Given the description of an element on the screen output the (x, y) to click on. 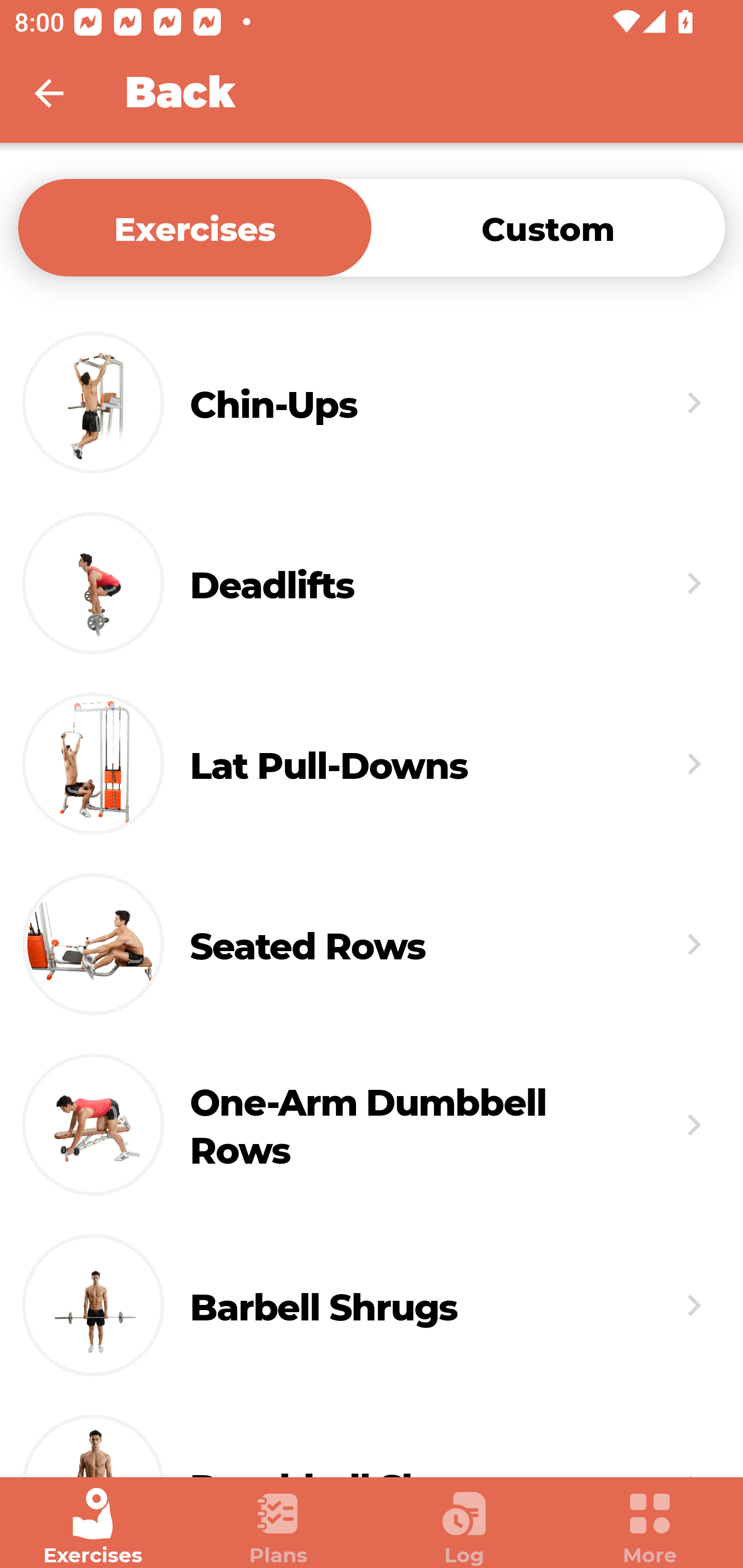
Back (62, 92)
Exercises (194, 226)
Custom (548, 226)
Exercises (92, 1527)
Plans (278, 1527)
Log (464, 1527)
More (650, 1527)
